Given the description of an element on the screen output the (x, y) to click on. 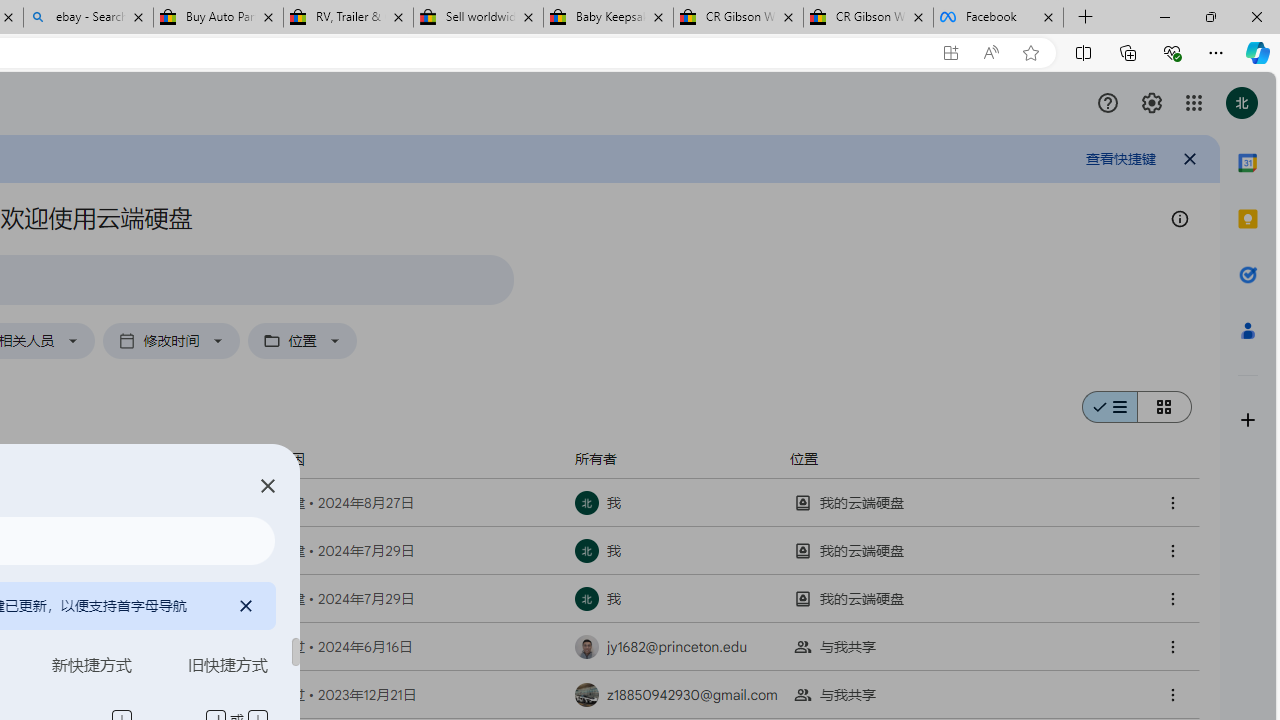
Baby Keepsakes & Announcements for sale | eBay (608, 17)
